Given the description of an element on the screen output the (x, y) to click on. 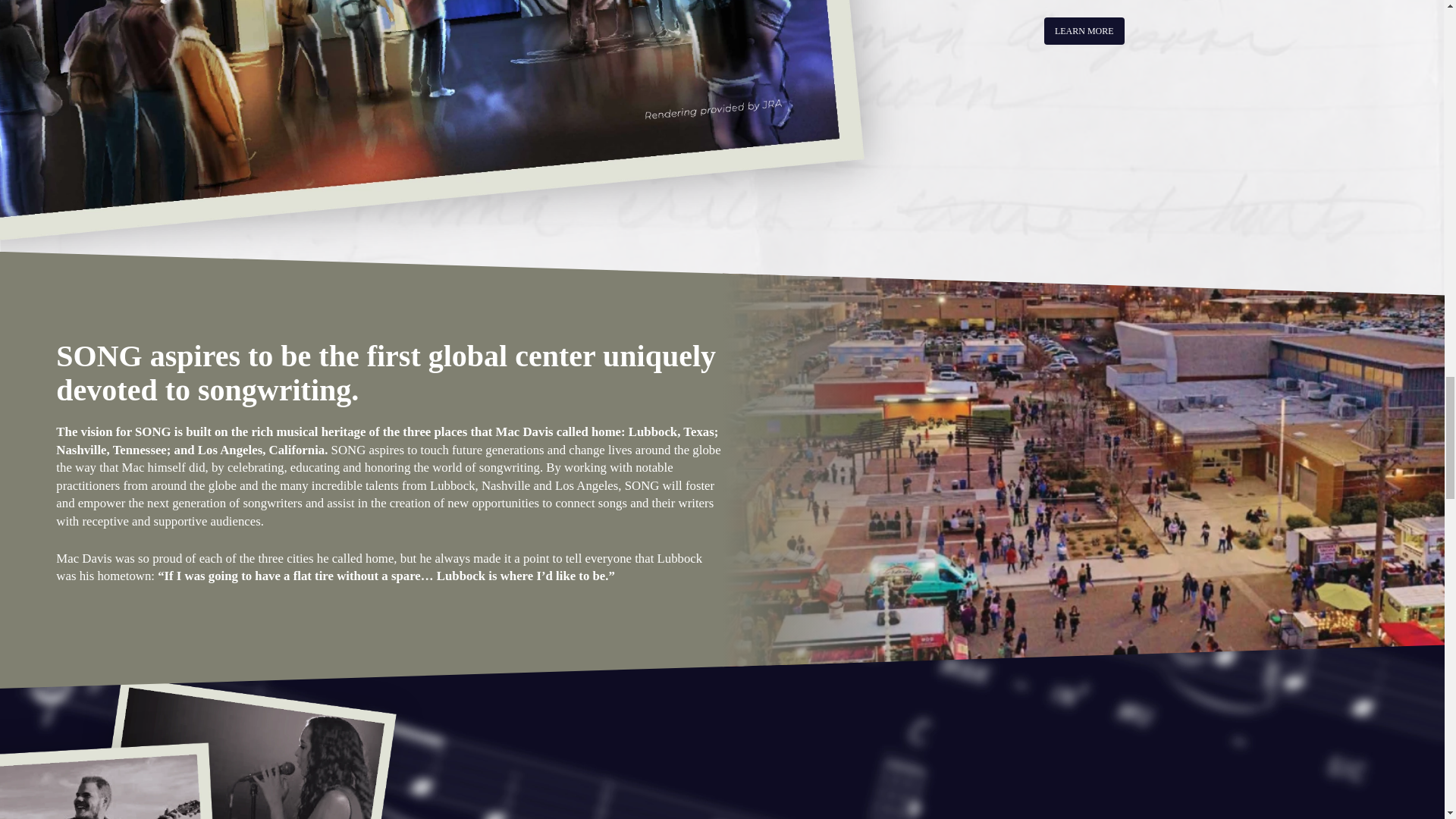
LEARN MORE (1083, 30)
